Given the description of an element on the screen output the (x, y) to click on. 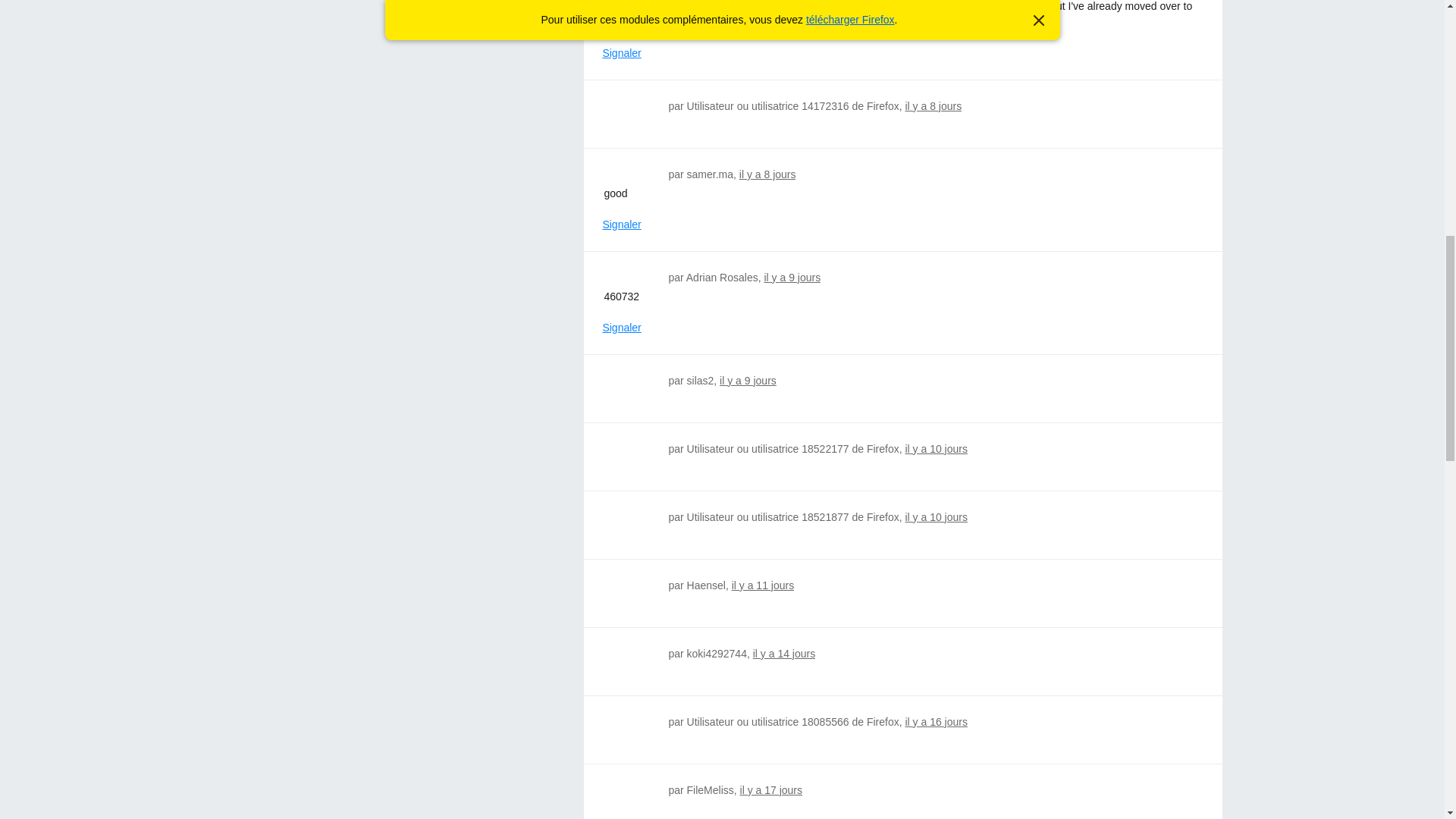
il y a 16 jours (935, 721)
il y a 11 jours (762, 585)
il y a 10 jours (935, 517)
Signaler (621, 53)
il y a 9 jours (791, 277)
il y a 14 jours (783, 653)
il y a 8 jours (932, 105)
il y a 10 jours (935, 449)
il y a 8 jours (767, 174)
Signaler (621, 327)
Signaler (621, 224)
il y a 9 jours (747, 380)
